Given the description of an element on the screen output the (x, y) to click on. 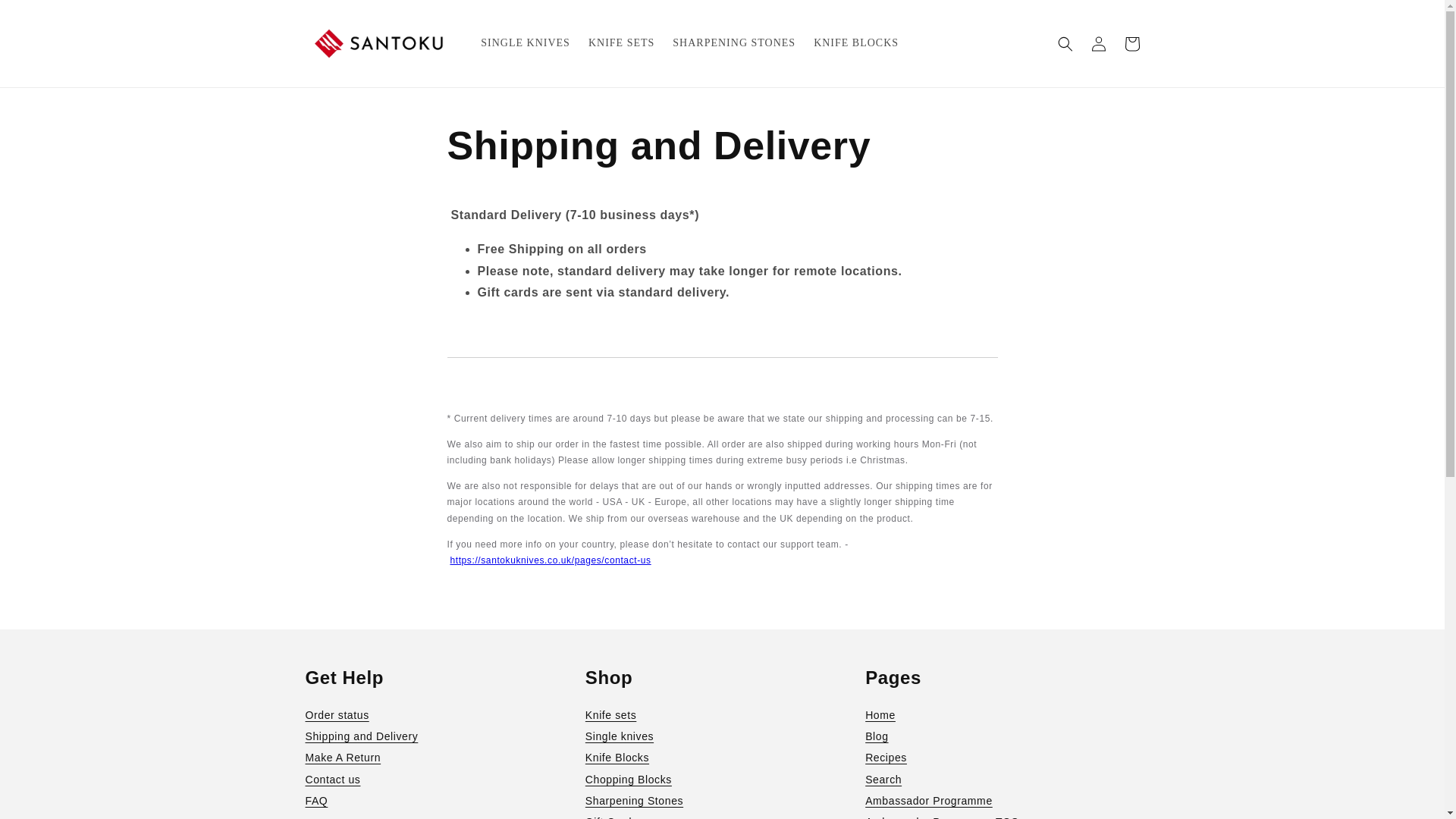
Log in (1098, 43)
Gift Cards (722, 815)
Skip to content (47, 18)
Order status (441, 714)
Contact us (549, 560)
Knife Blocks (722, 757)
Search (1001, 779)
SINGLE KNIVES (525, 42)
Make A Return (441, 757)
Ambassador Programme (1001, 800)
SHARPENING STONES (734, 42)
Single knives (722, 735)
Contact us (441, 779)
Home (1001, 714)
Blog (1001, 735)
